Given the description of an element on the screen output the (x, y) to click on. 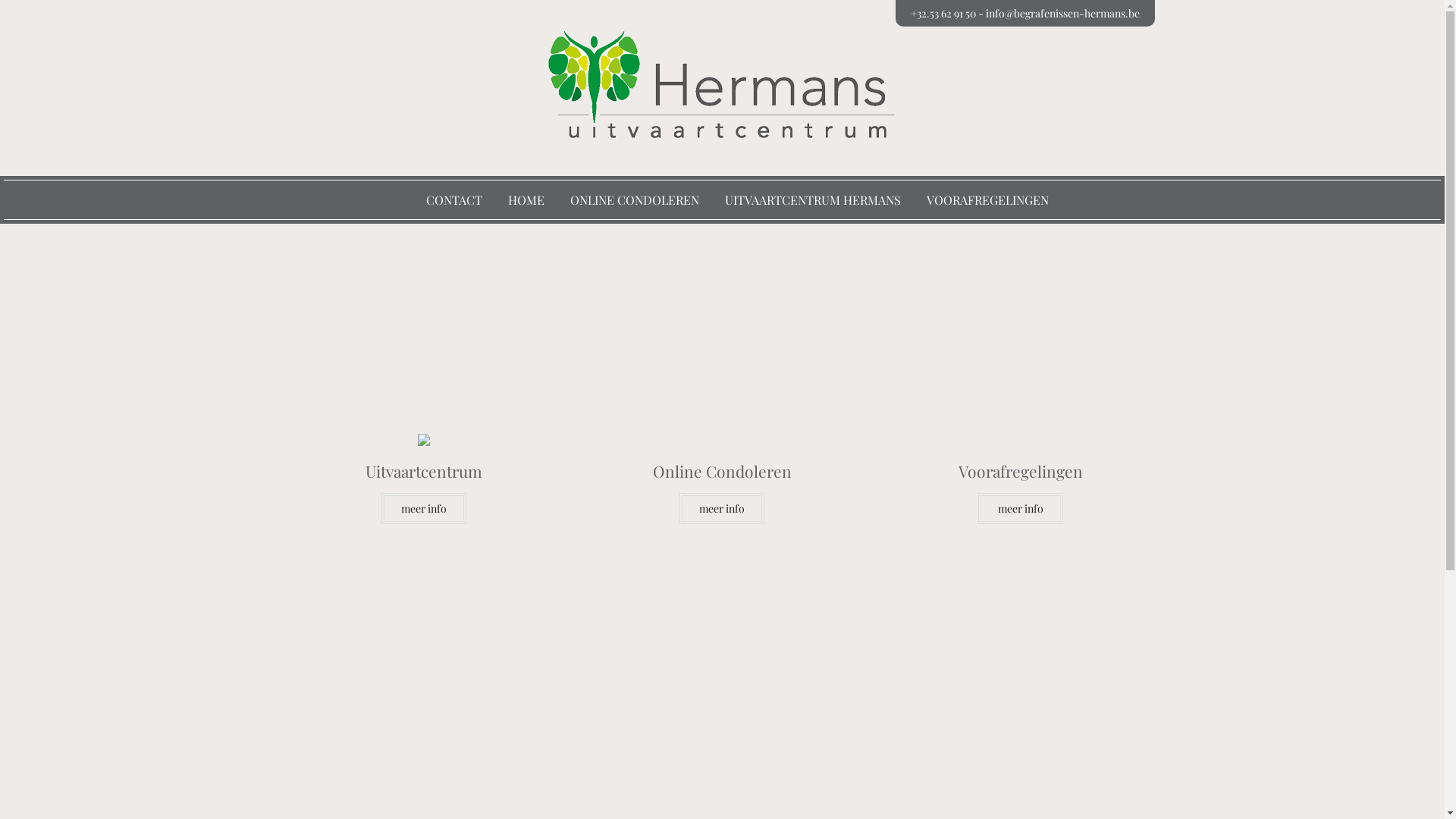
meer info Element type: text (1020, 508)
CONTACT Element type: text (454, 199)
VOORAFREGELINGEN Element type: text (987, 199)
meer info Element type: text (423, 508)
ONLINE CONDOLEREN Element type: text (634, 199)
HOME Element type: text (526, 199)
UITVAARTCENTRUM HERMANS Element type: text (812, 199)
meer info Element type: text (721, 508)
